Given the description of an element on the screen output the (x, y) to click on. 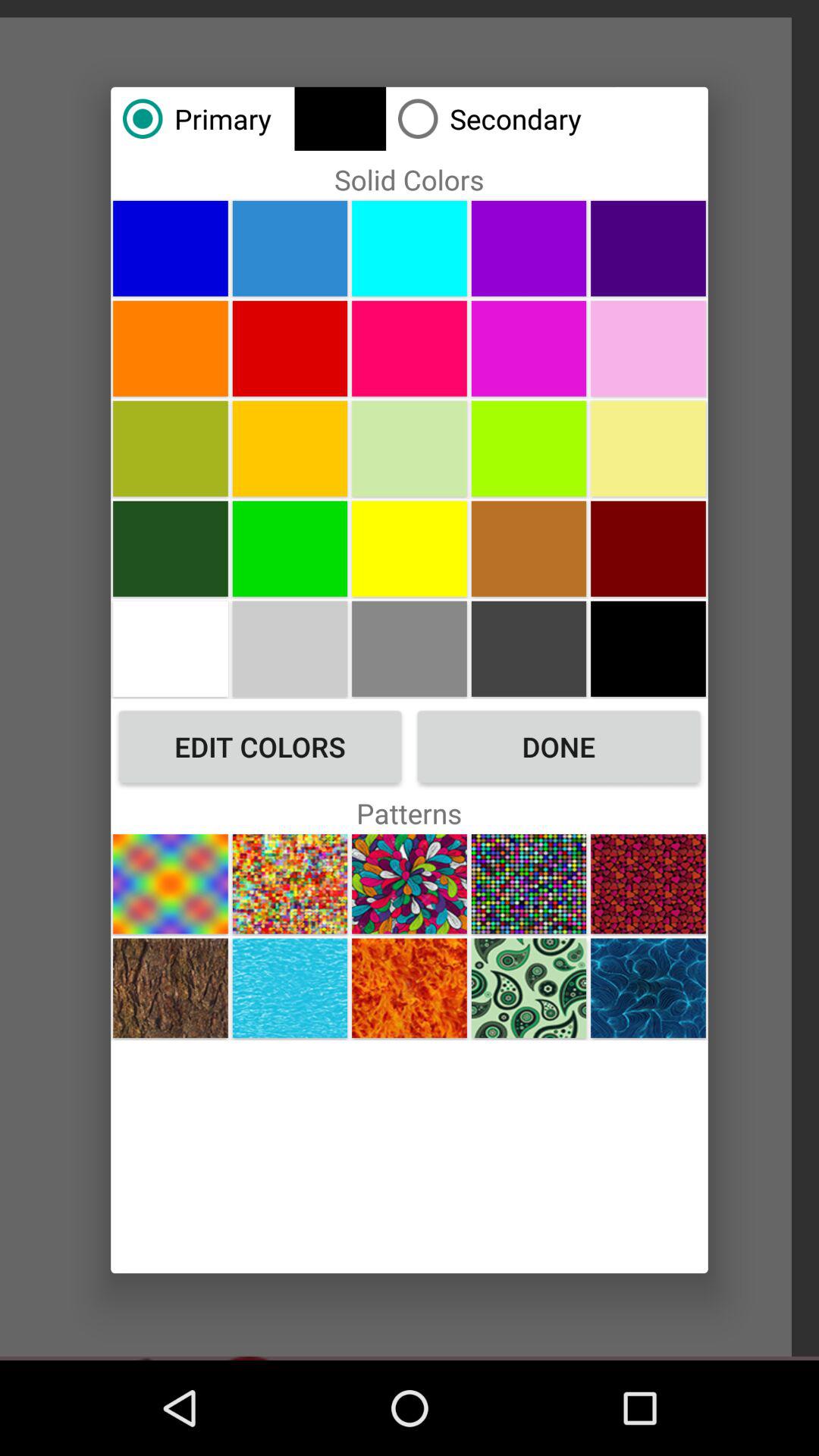
select color white (170, 648)
